Given the description of an element on the screen output the (x, y) to click on. 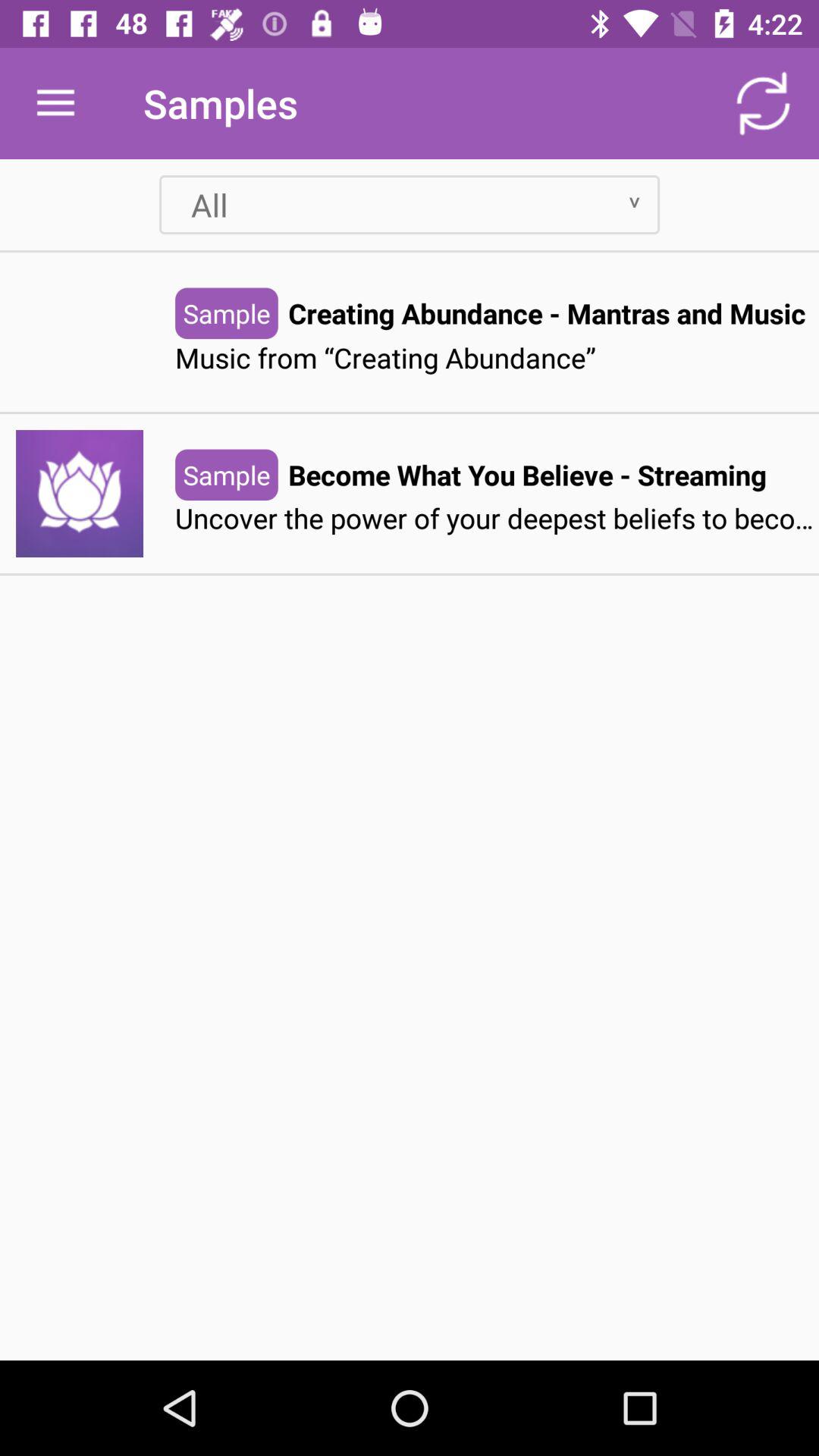
tap item next to the samples (763, 103)
